Given the description of an element on the screen output the (x, y) to click on. 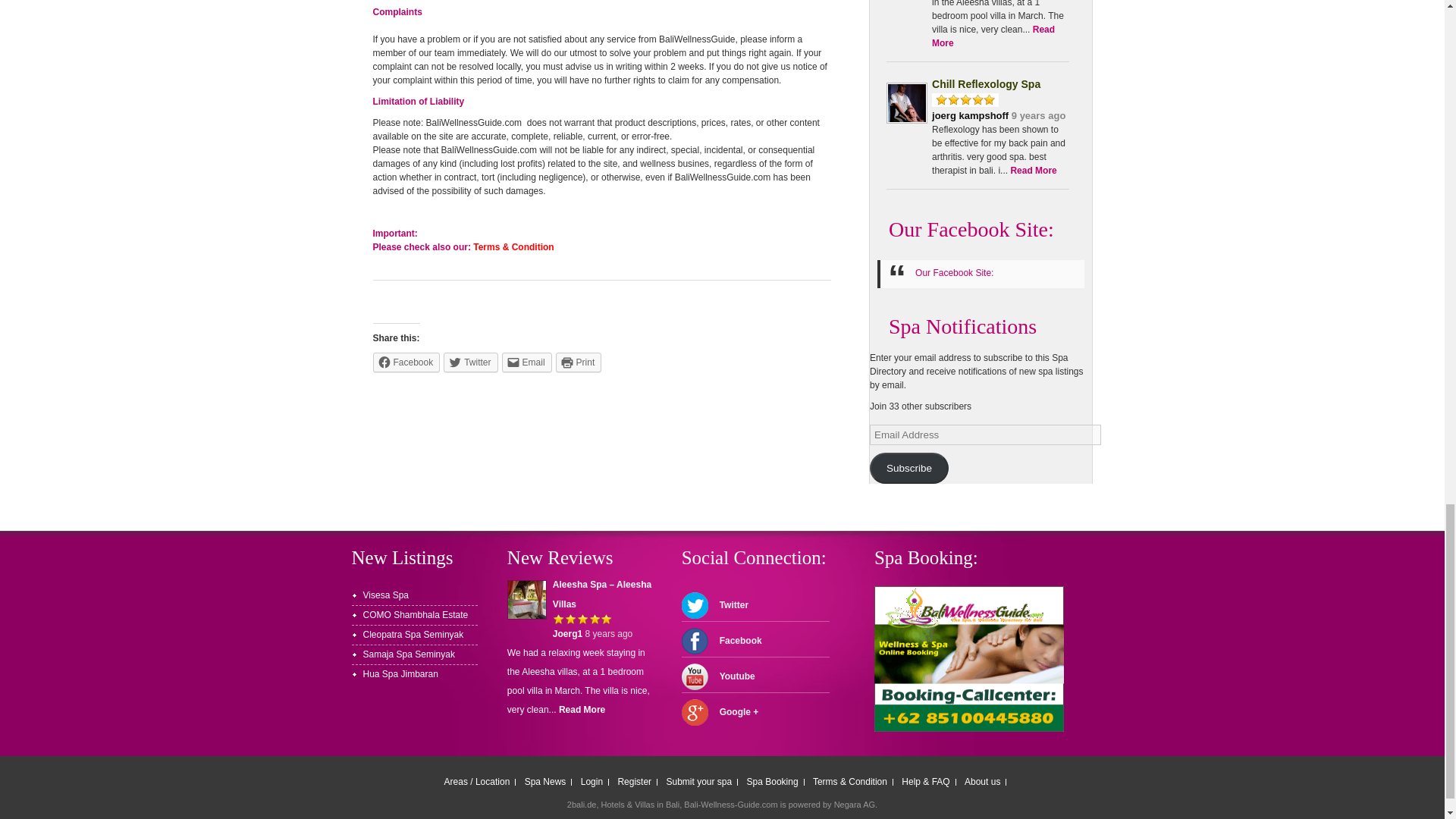
Facebook (406, 362)
Twitter (470, 362)
Click to share on Twitter (470, 362)
Click to share on Facebook (406, 362)
